Given the description of an element on the screen output the (x, y) to click on. 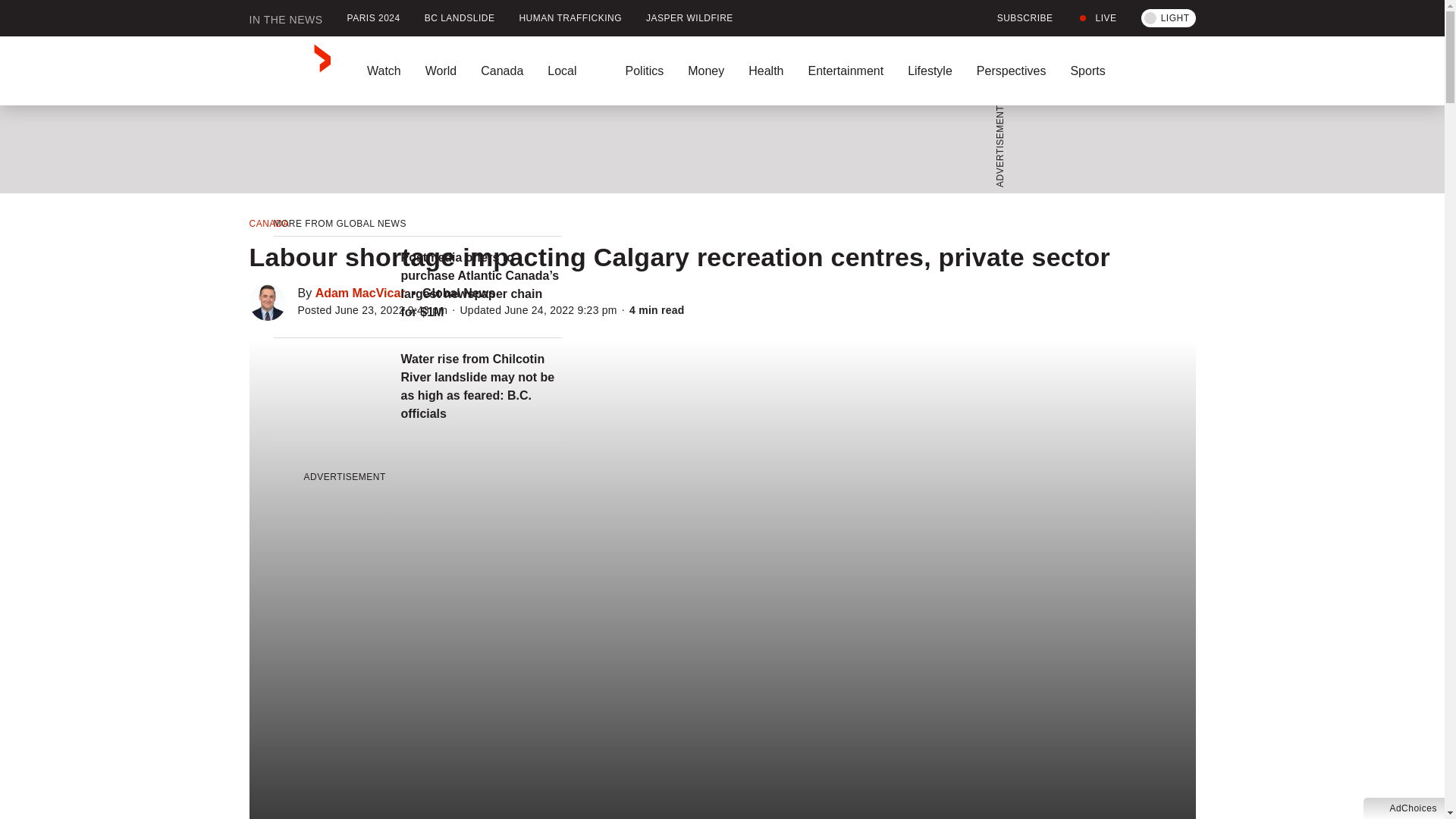
Perspectives (1010, 70)
PARIS 2024 (373, 18)
Politics (643, 70)
Entertainment (844, 70)
Local (573, 70)
Posts by Adam MacVicar (360, 293)
SUBSCRIBE (1015, 18)
Lifestyle (929, 70)
GlobalNews home (289, 70)
BC LANDSLIDE (459, 18)
Canada (501, 70)
JASPER WILDFIRE (689, 18)
LIVE (1096, 18)
HUMAN TRAFFICKING (569, 18)
